Given the description of an element on the screen output the (x, y) to click on. 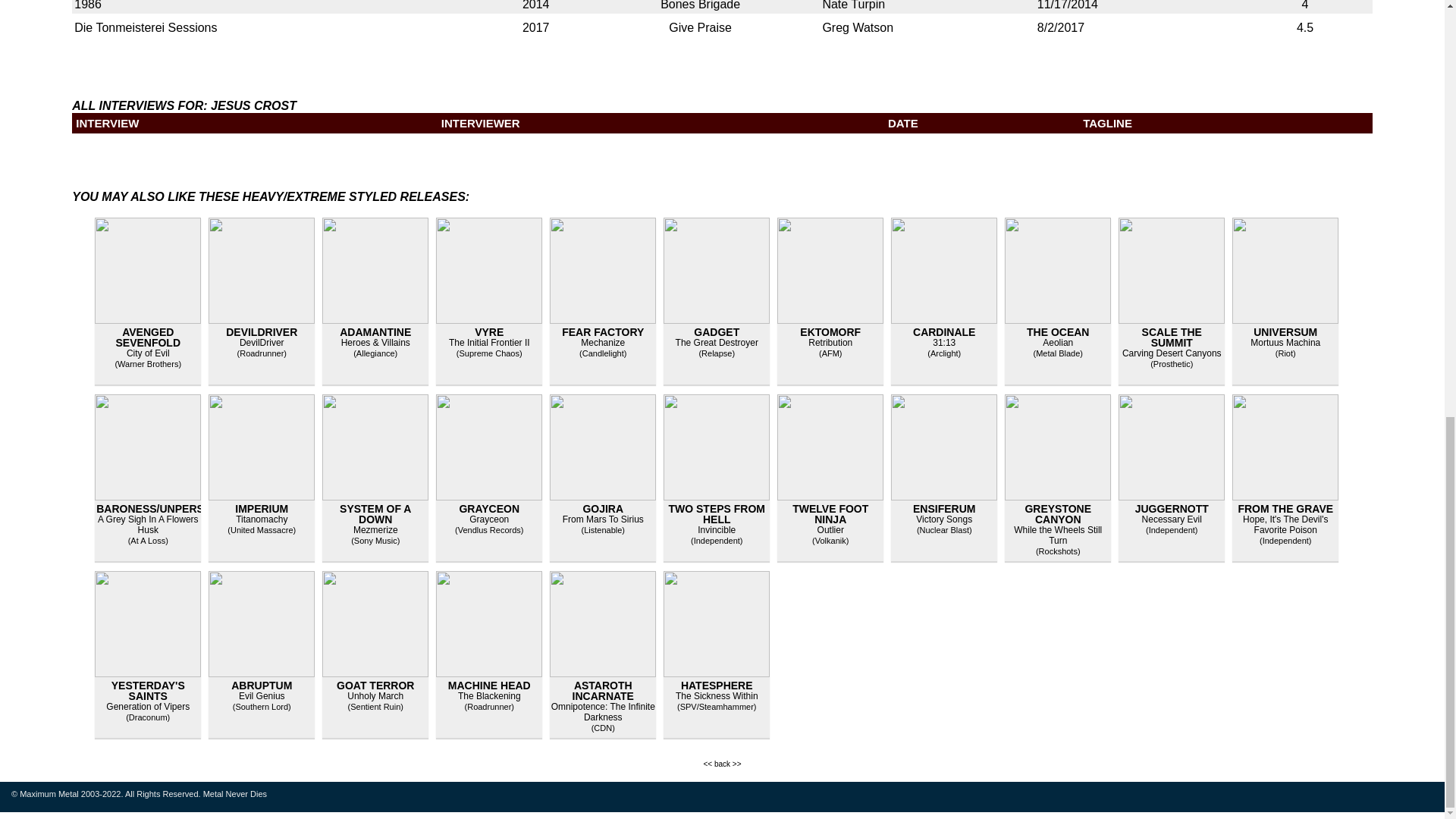
1986 (87, 5)
GADGET (716, 331)
VYRE (488, 331)
Die Tonmeisterei Sessions (145, 27)
The Great Destroyer (716, 342)
AVENGED SEVENFOLD (147, 336)
ADAMANTINE (374, 331)
DevilDriver (261, 342)
Aeolian (1057, 342)
The Initial Frontier II (488, 342)
